Given the description of an element on the screen output the (x, y) to click on. 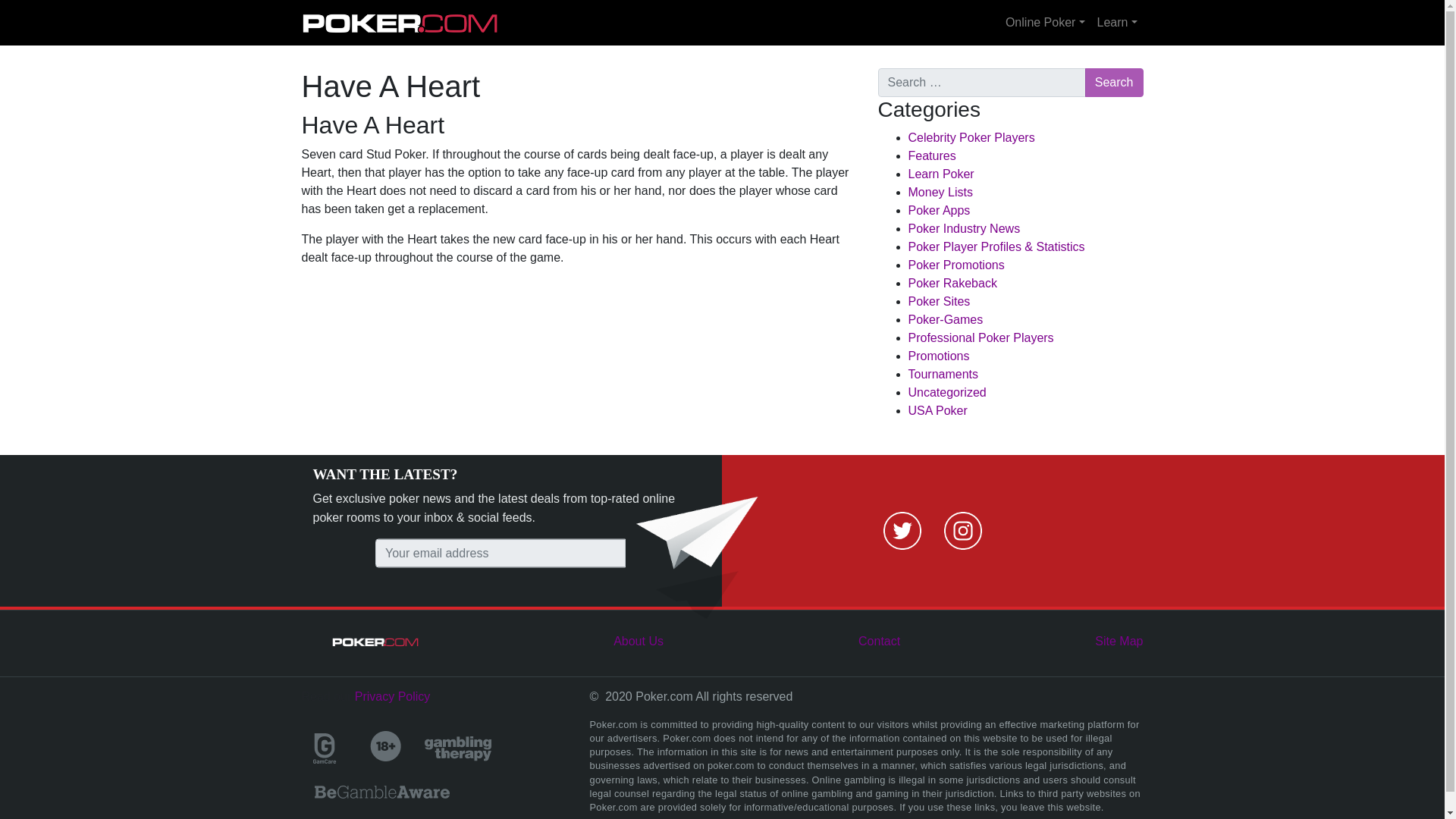
Tournaments (943, 373)
Features (932, 155)
Poker Apps (939, 210)
Global and international live poker winnings money-lists. (940, 192)
Online Poker (1044, 22)
Uncategorized (947, 391)
Poker-Games (946, 318)
Poker Industry News (964, 228)
Search (1113, 82)
USA Poker (938, 410)
Poker (400, 22)
Search (1113, 82)
Money Lists (940, 192)
Poker Features (932, 155)
Poker Promotions (956, 264)
